Given the description of an element on the screen output the (x, y) to click on. 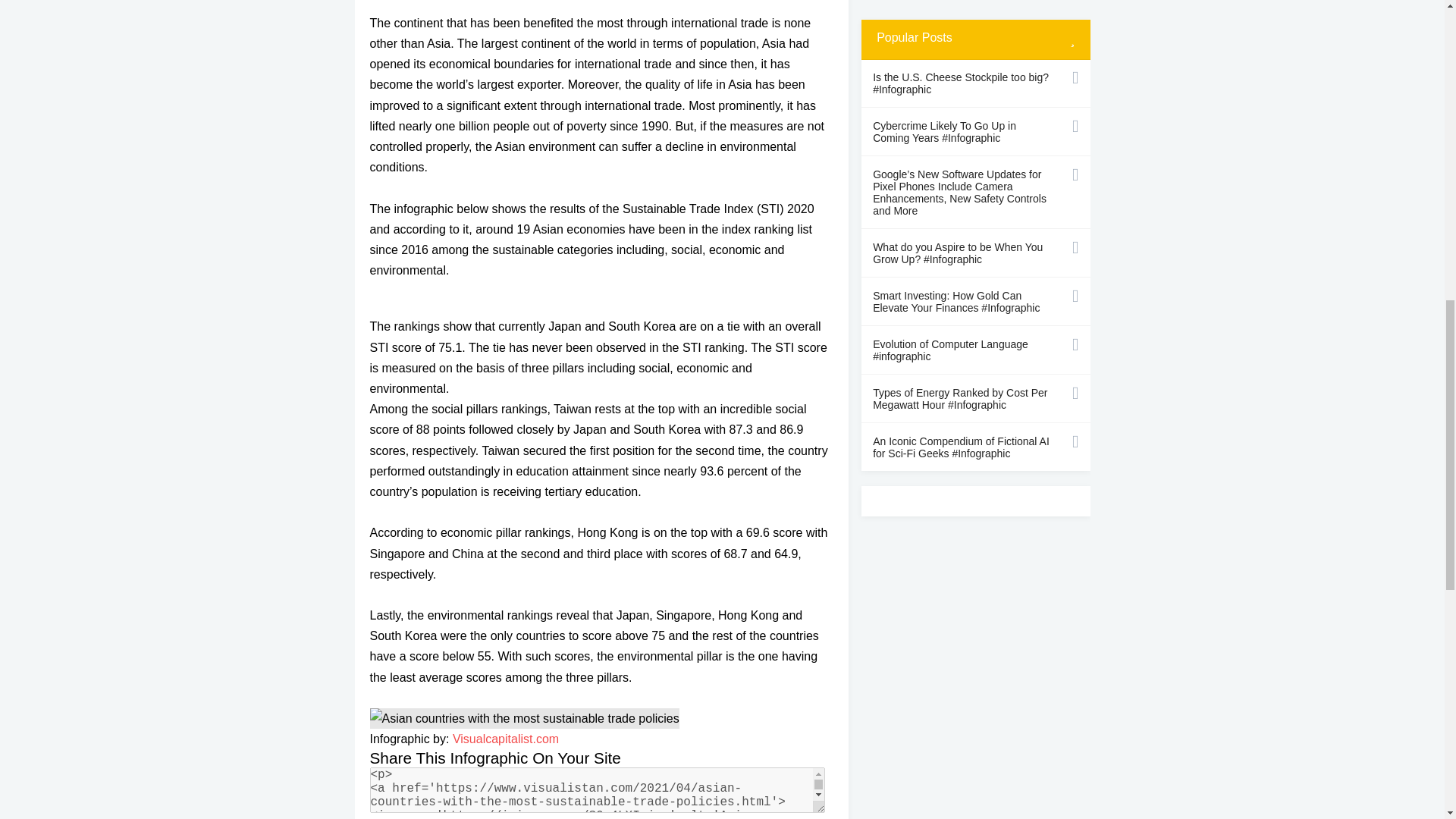
Visualcapitalist.com (505, 738)
